Given the description of an element on the screen output the (x, y) to click on. 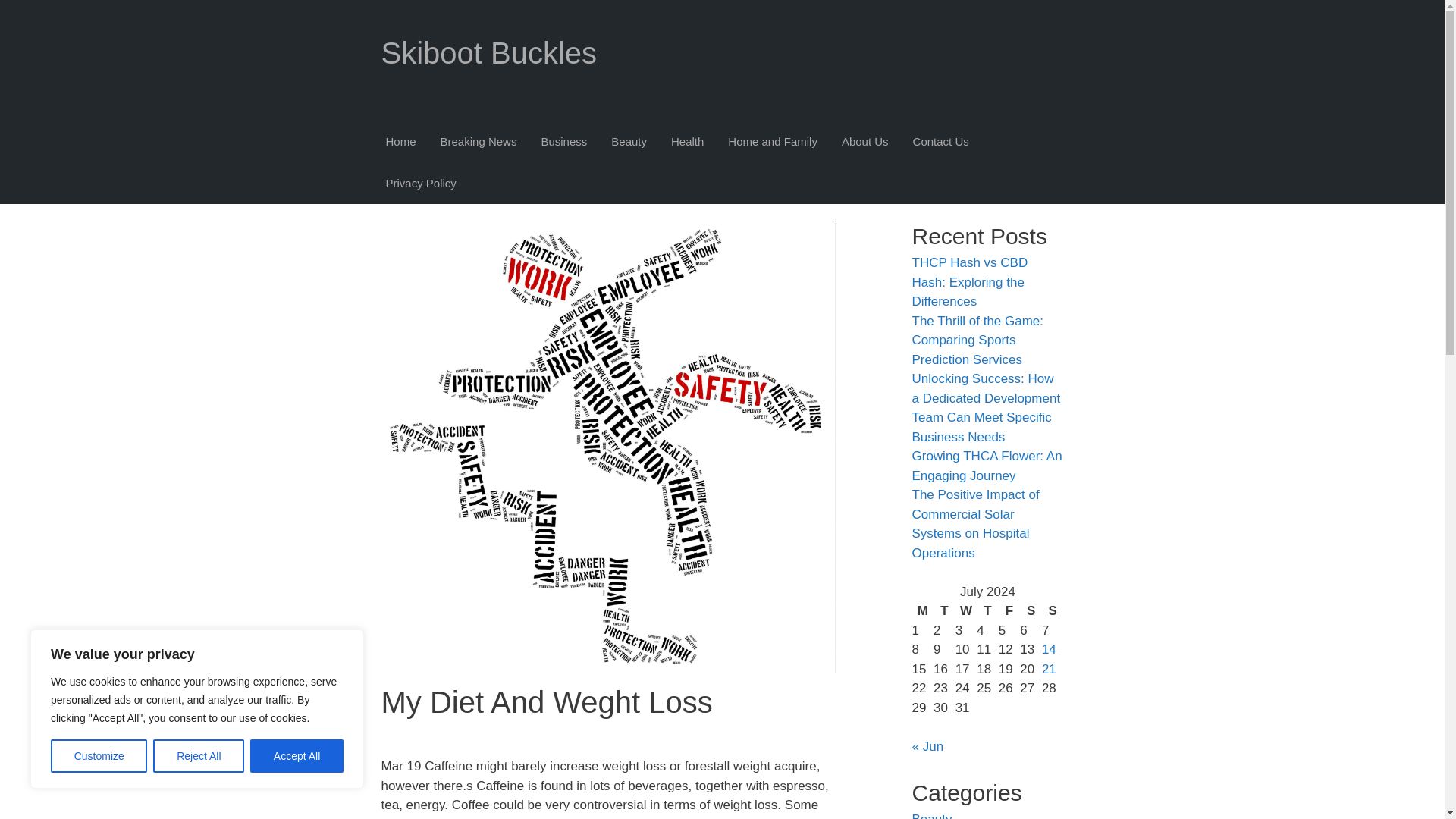
Reject All (198, 756)
Business (563, 141)
Home (399, 141)
Saturday (1031, 610)
Customize (98, 756)
Tuesday (944, 610)
The Thrill of the Game: Comparing Sports Prediction Services (977, 339)
Skiboot Buckles (488, 52)
Sunday (1053, 610)
About Us (864, 141)
Home and Family (772, 141)
Friday (1009, 610)
Growing THCA Flower: An Engaging Journey (986, 465)
Beauty (628, 141)
